Given the description of an element on the screen output the (x, y) to click on. 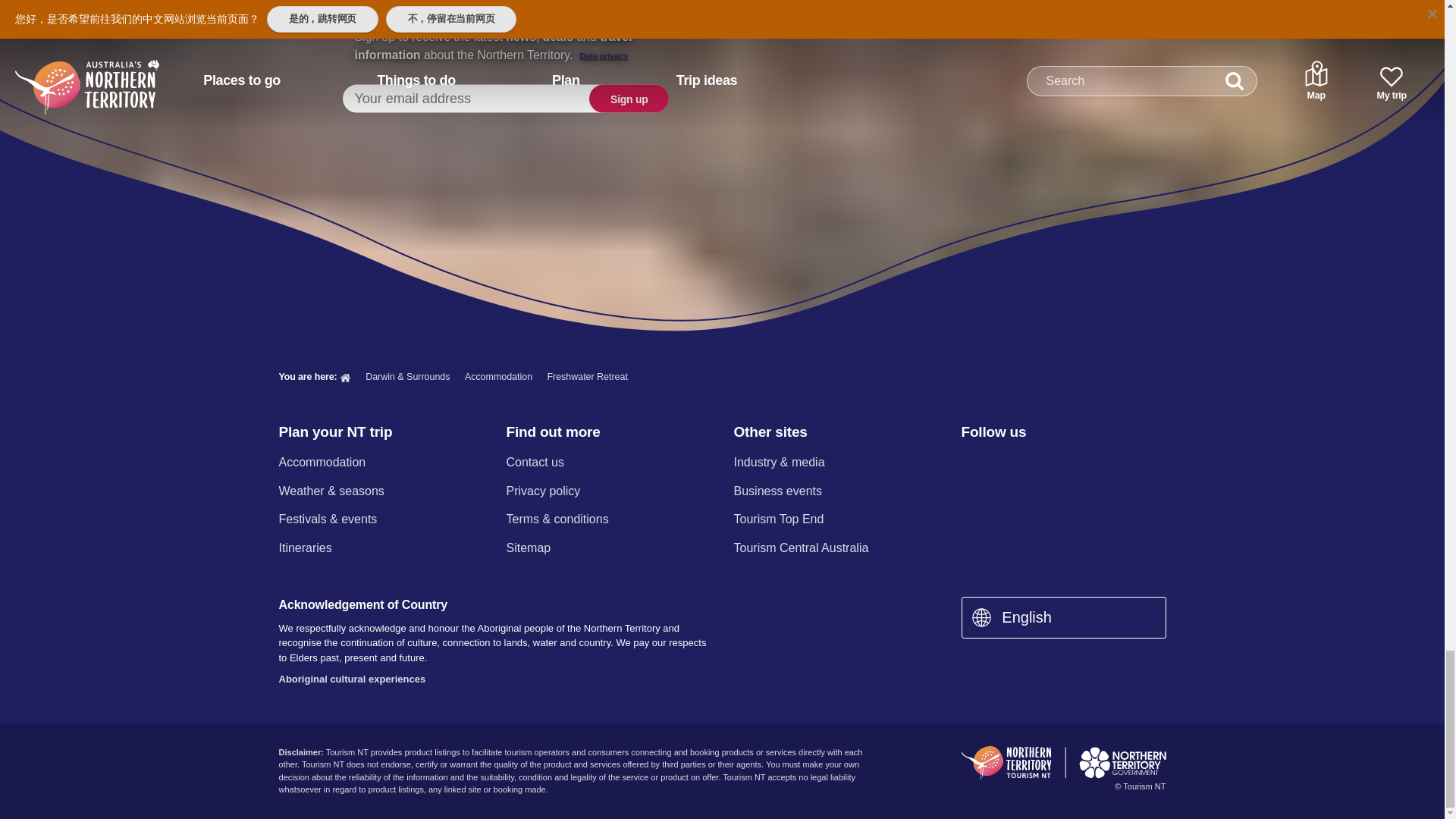
Twitter (1050, 463)
Facebook (970, 463)
Instagram (1009, 463)
Trip Advisor (1129, 463)
YouTube (1089, 463)
